Given the description of an element on the screen output the (x, y) to click on. 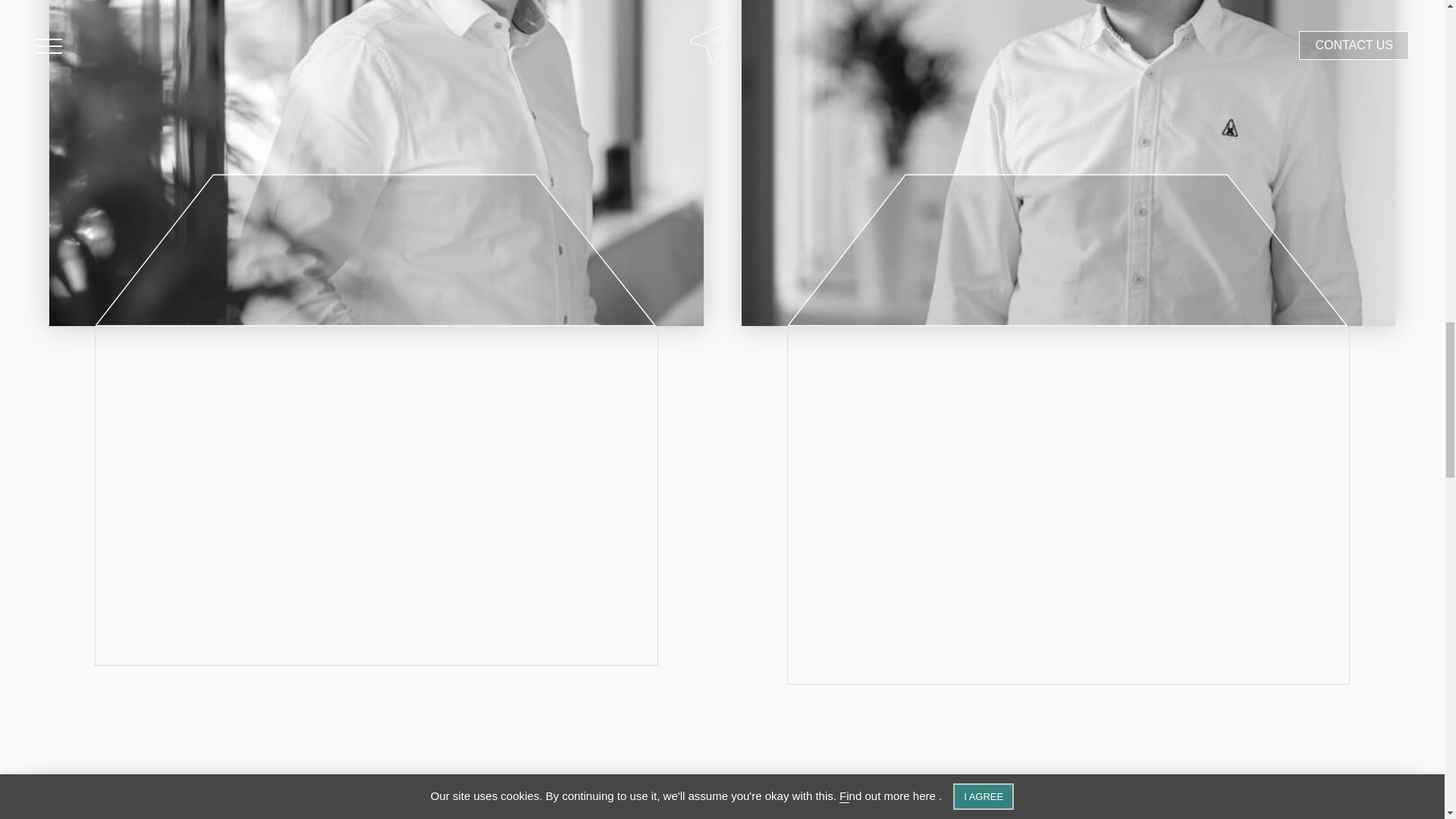
About-ERIK SPEK (721, 800)
